Given the description of an element on the screen output the (x, y) to click on. 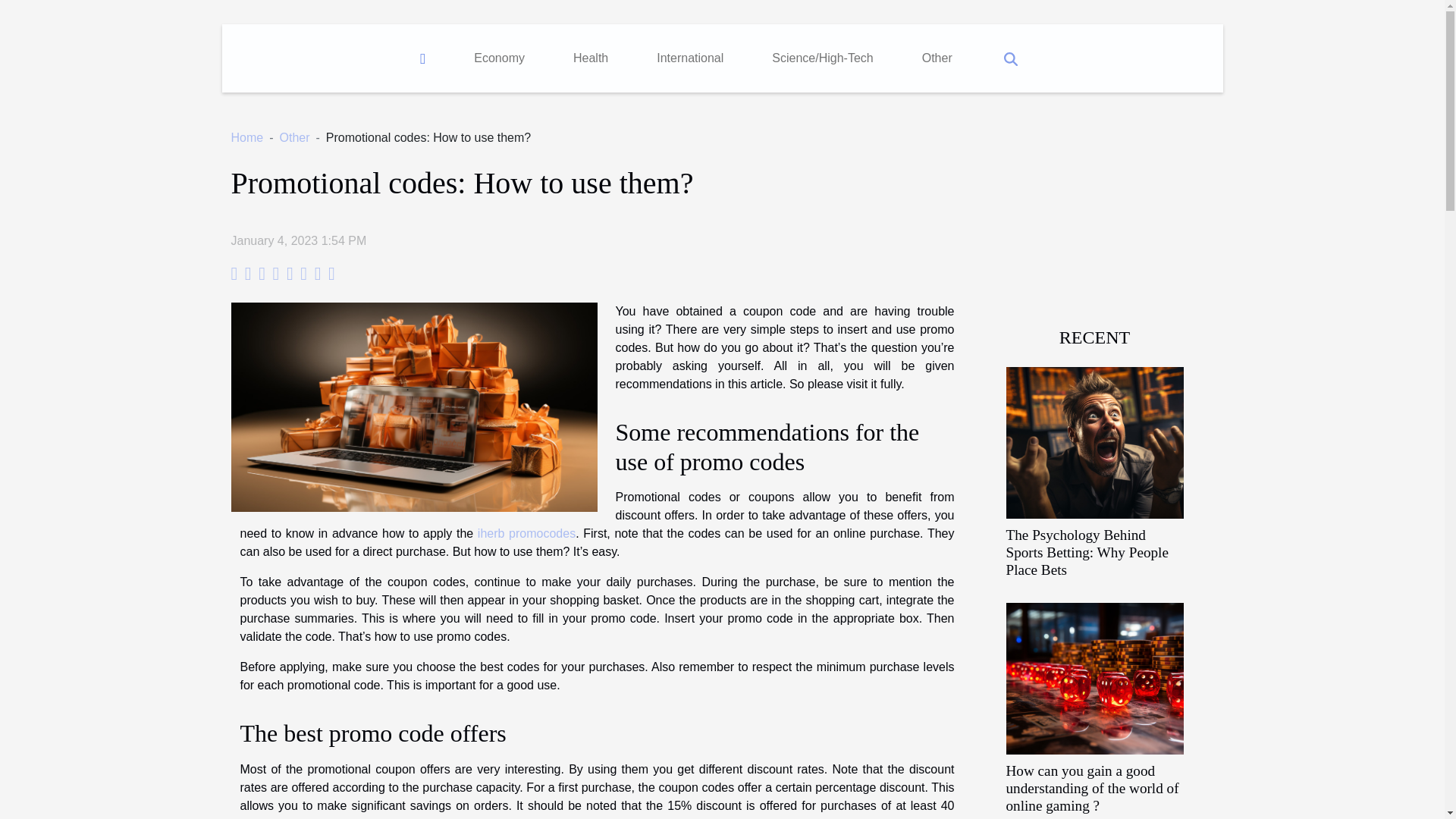
Economy (499, 58)
The Psychology Behind Sports Betting: Why People Place Bets (1086, 552)
Health (590, 58)
The Psychology Behind Sports Betting: Why People Place Bets (1086, 552)
Other (294, 137)
iherb promocodes (526, 533)
International (689, 58)
The Psychology Behind Sports Betting: Why People Place Bets (1094, 440)
